Given the description of an element on the screen output the (x, y) to click on. 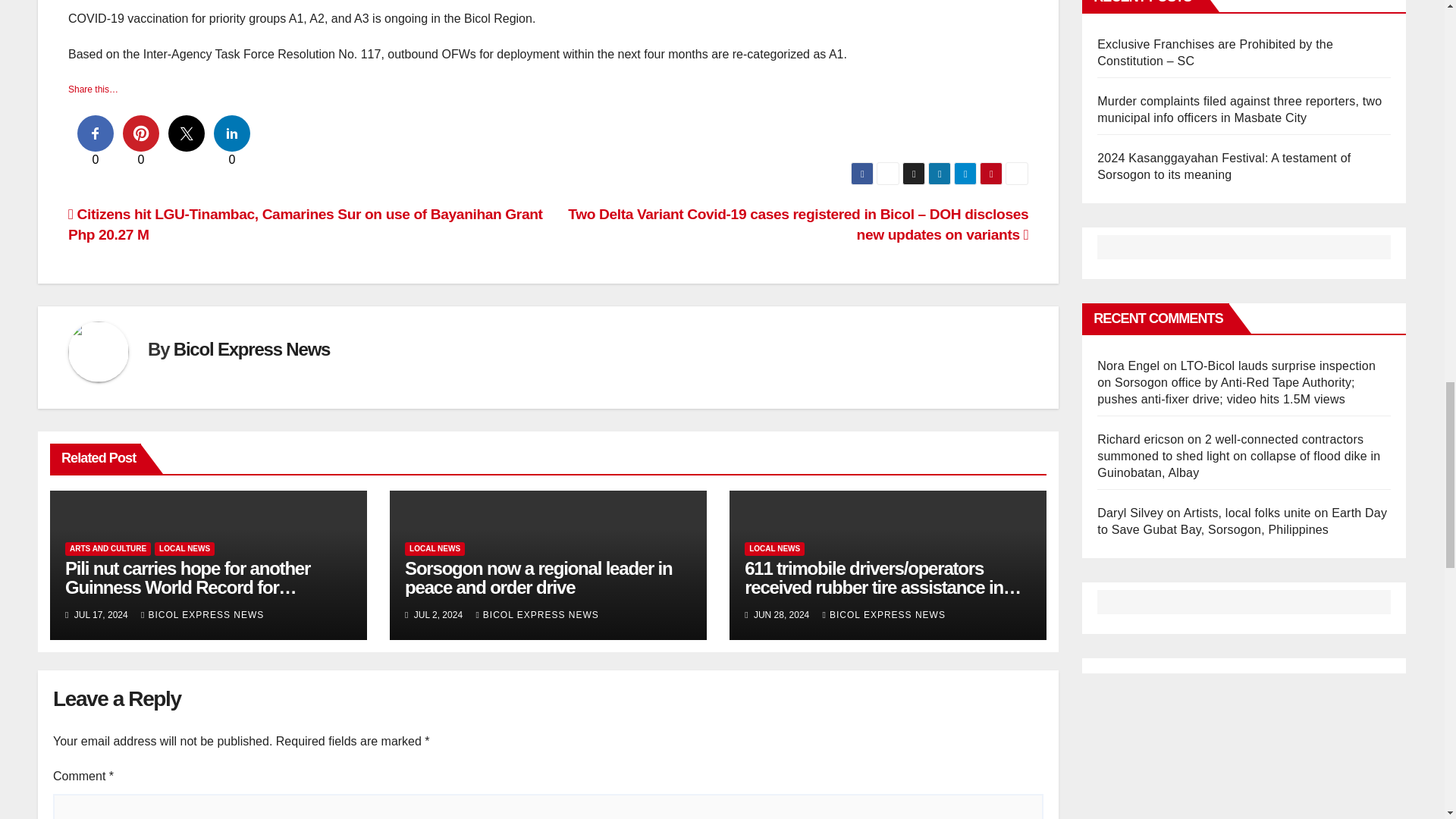
0 (140, 133)
0 (232, 133)
0 (95, 133)
